Given the description of an element on the screen output the (x, y) to click on. 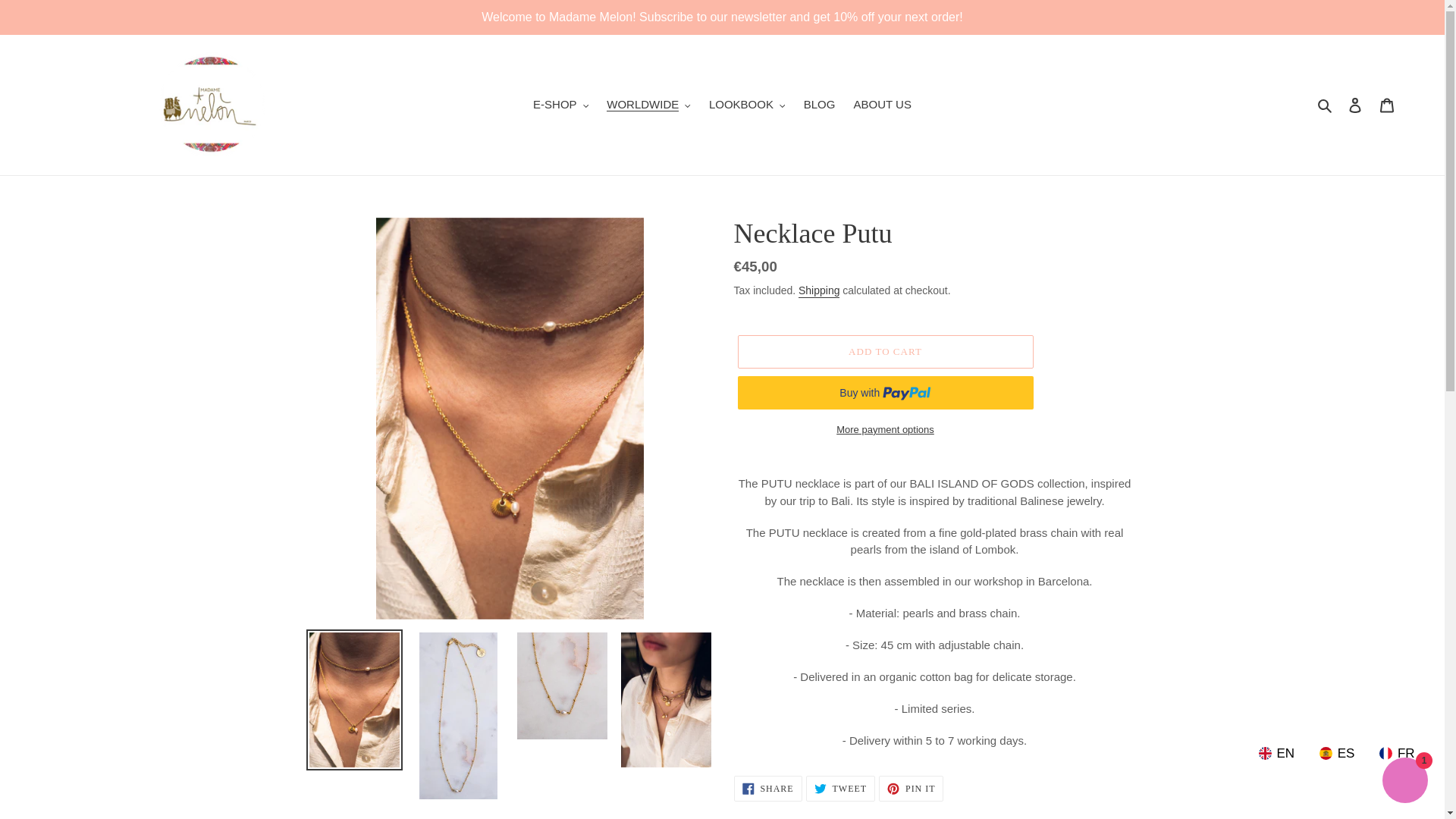
Cart (1387, 104)
Log in (1355, 104)
Search (1326, 104)
Shopify online store chat (1404, 781)
E-SHOP (560, 105)
WORLDWIDE (648, 105)
BLOG (819, 105)
ABOUT US (881, 105)
LOOKBOOK (747, 105)
